Given the description of an element on the screen output the (x, y) to click on. 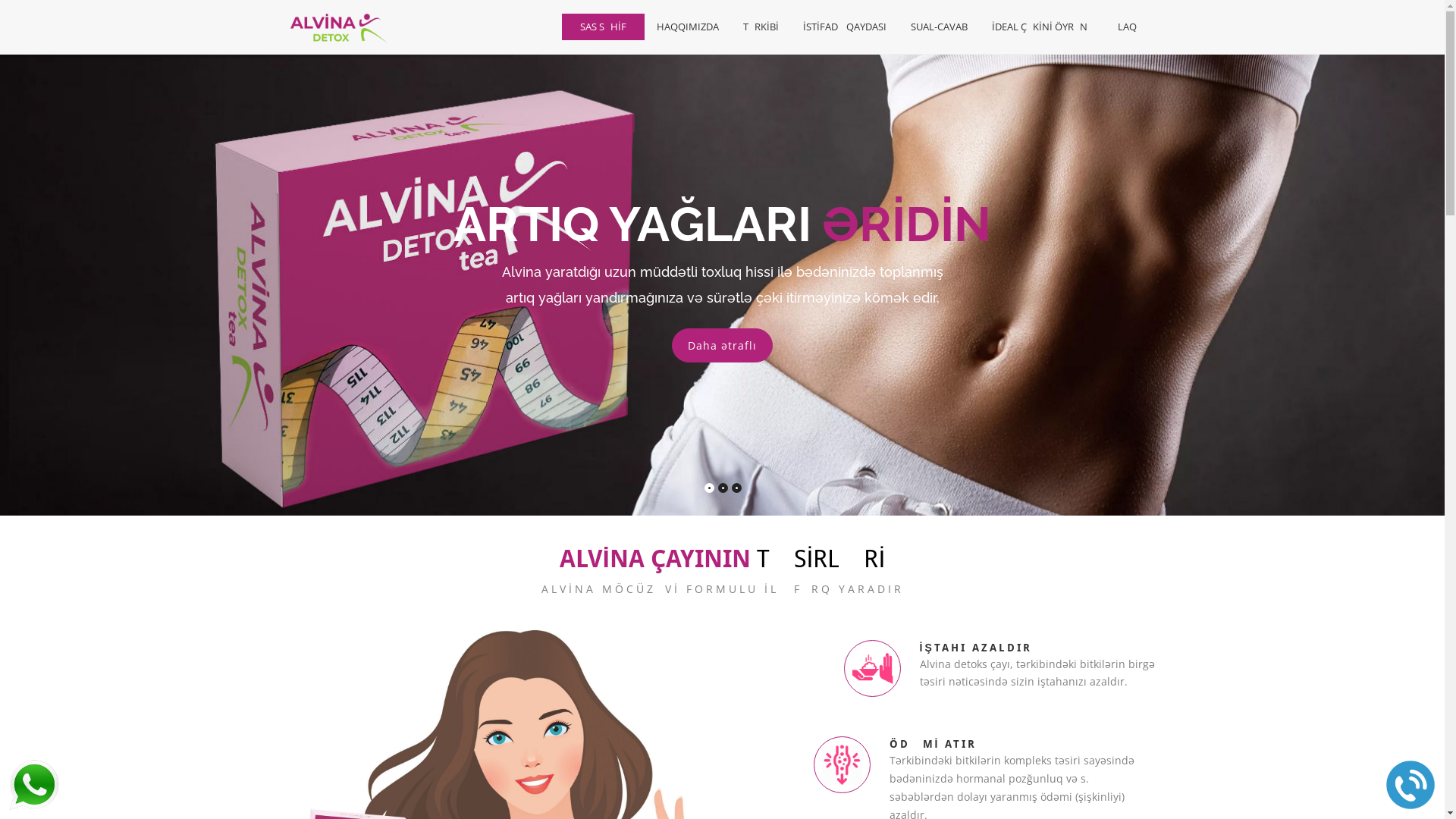
SUAL-CAVAB Element type: text (938, 26)
HAQQIMIZDA Element type: text (687, 26)
